Given the description of an element on the screen output the (x, y) to click on. 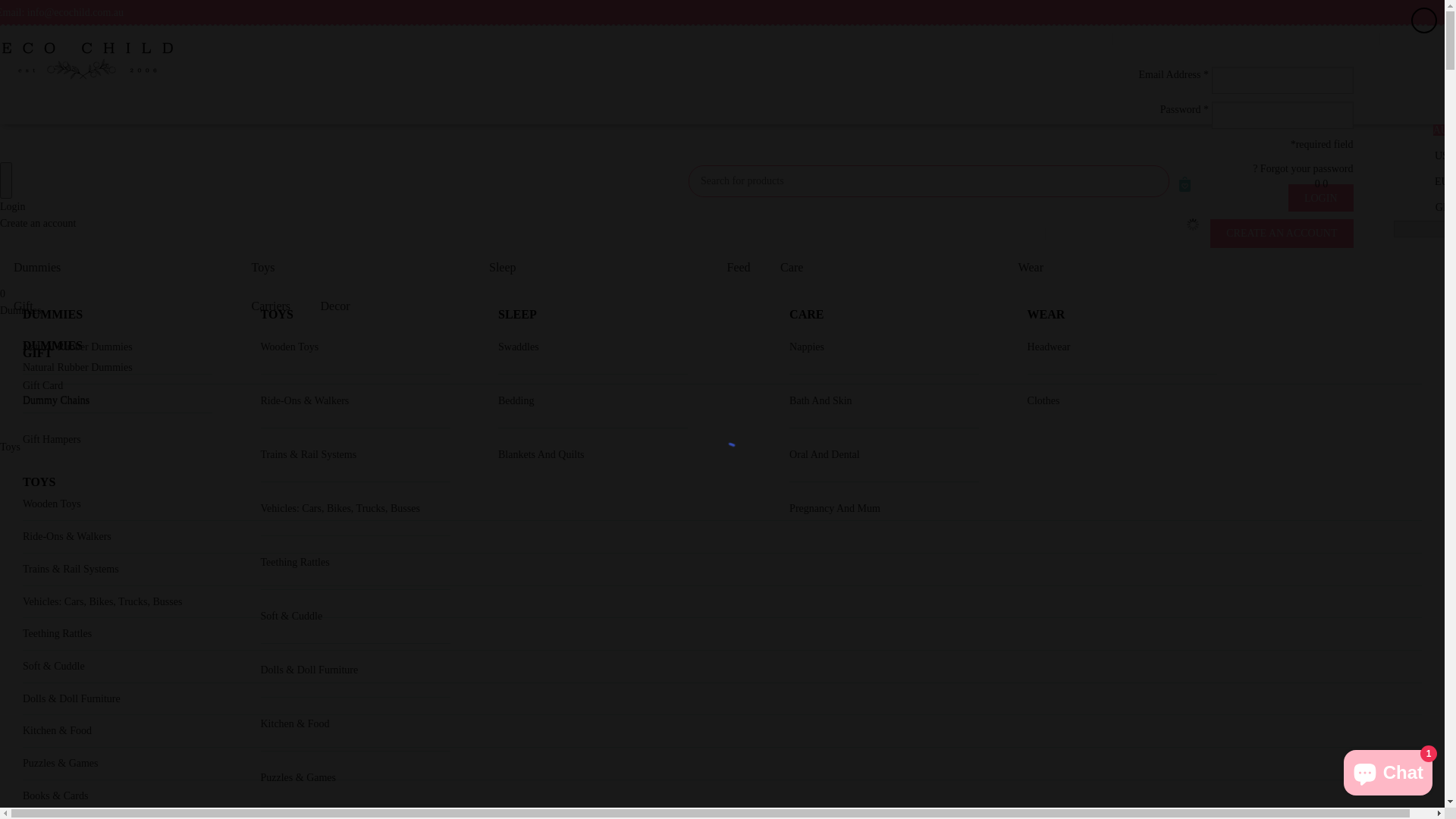
Nappies Element type: text (806, 346)
Dolls & Doll Furniture Element type: text (71, 698)
Gift Card Element type: text (42, 385)
Books & Cards Element type: text (54, 795)
My Account Element type: text (1341, 37)
Blankets And Quilts Element type: text (541, 454)
Kitchen & Food Element type: text (294, 723)
Puzzles & Games Element type: text (298, 777)
Wooden Toys Element type: text (51, 503)
Decor Element type: text (328, 305)
Gift Hampers Element type: text (51, 439)
Vehicles: Cars, Bikes, Trucks, Busses Element type: text (102, 601)
Swaddles Element type: text (518, 346)
Soft & Cuddle Element type: text (291, 615)
Feed Element type: text (737, 266)
Shopify online store chat Element type: hover (1388, 769)
Sleep Element type: text (504, 266)
Dolls & Doll Furniture Element type: text (309, 669)
Login Element type: text (12, 206)
Dummy Chains Element type: text (55, 399)
Bedding Element type: text (515, 400)
Dummies Element type: text (39, 266)
Submit Element type: text (1153, 181)
Pregnancy And Mum Element type: text (834, 508)
Clothes Element type: text (1043, 400)
Natural Rubber Dummies Element type: text (77, 367)
Bath And Skin Element type: text (820, 400)
Wish list Element type: text (1077, 232)
Natural Rubber Dummies Element type: text (77, 346)
LOGIN Element type: text (1320, 197)
0 0 Element type: text (1307, 184)
CREATE AN ACCOUNT Element type: text (1281, 233)
Teething Rattles Element type: text (56, 633)
Carriers Element type: text (271, 305)
Toys Element type: text (265, 266)
Wear Element type: text (1032, 266)
Ride-Ons & Walkers Element type: text (304, 400)
Gift Element type: text (25, 305)
0 Element type: text (722, 266)
Toys Element type: text (10, 446)
Dummy Chains Element type: text (55, 400)
Oral And Dental Element type: text (824, 454)
Create an account Element type: text (37, 223)
Trains & Rail Systems Element type: text (308, 454)
Ride-Ons & Walkers Element type: text (66, 536)
Trains & Rail Systems Element type: text (70, 568)
? Forgot your password Element type: text (1302, 168)
Headwear Element type: text (1048, 346)
Teething Rattles Element type: text (294, 561)
Wooden Toys Element type: text (289, 346)
Vehicles: Cars, Bikes, Trucks, Busses Element type: text (340, 508)
Soft & Cuddle Element type: text (53, 665)
Dummies Element type: text (20, 310)
Kitchen & Food Element type: text (56, 730)
Care Element type: text (793, 266)
Puzzles & Games Element type: text (60, 762)
